Given the description of an element on the screen output the (x, y) to click on. 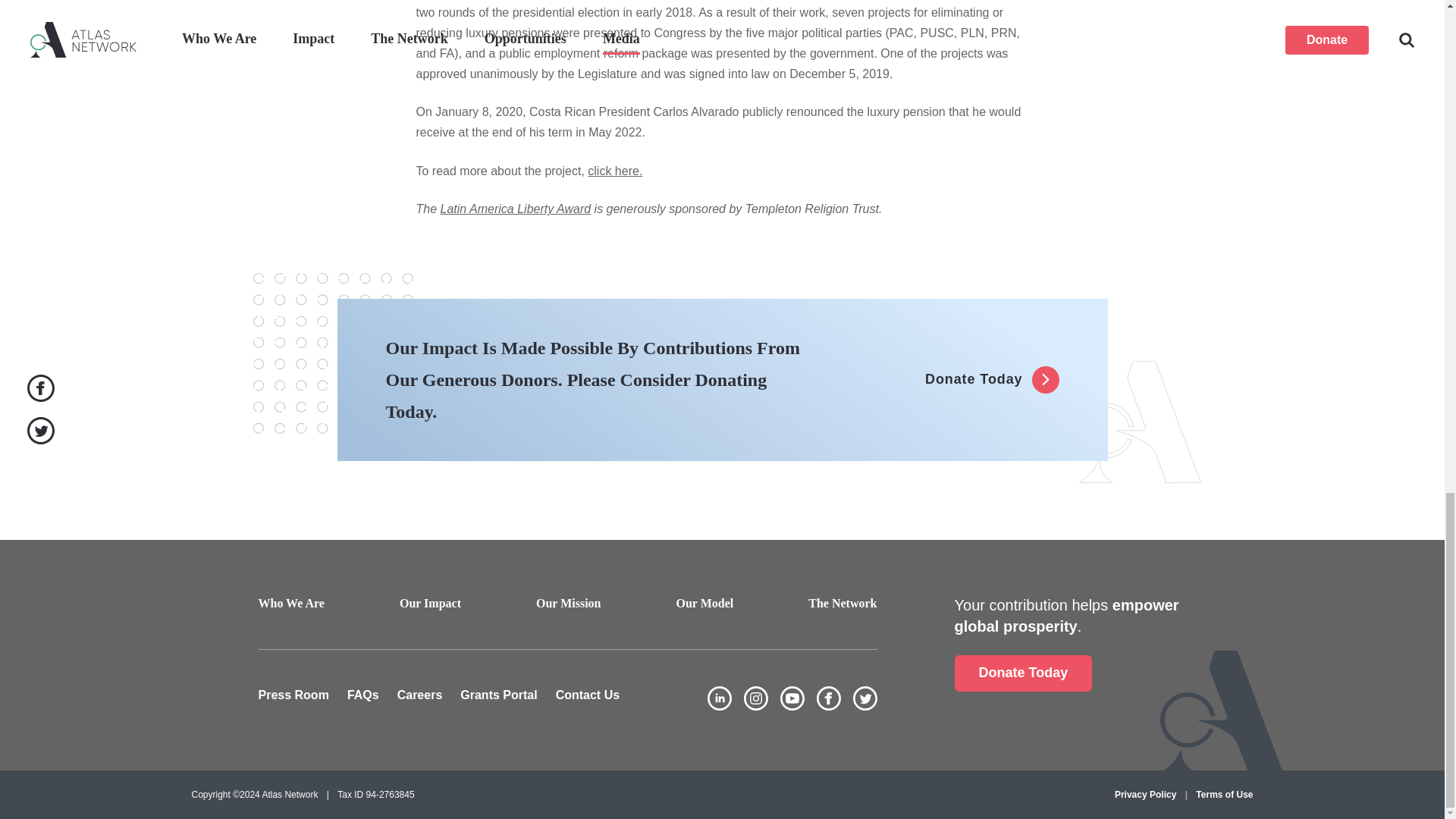
Latin America Liberty Award (516, 208)
click here. (615, 170)
